Given the description of an element on the screen output the (x, y) to click on. 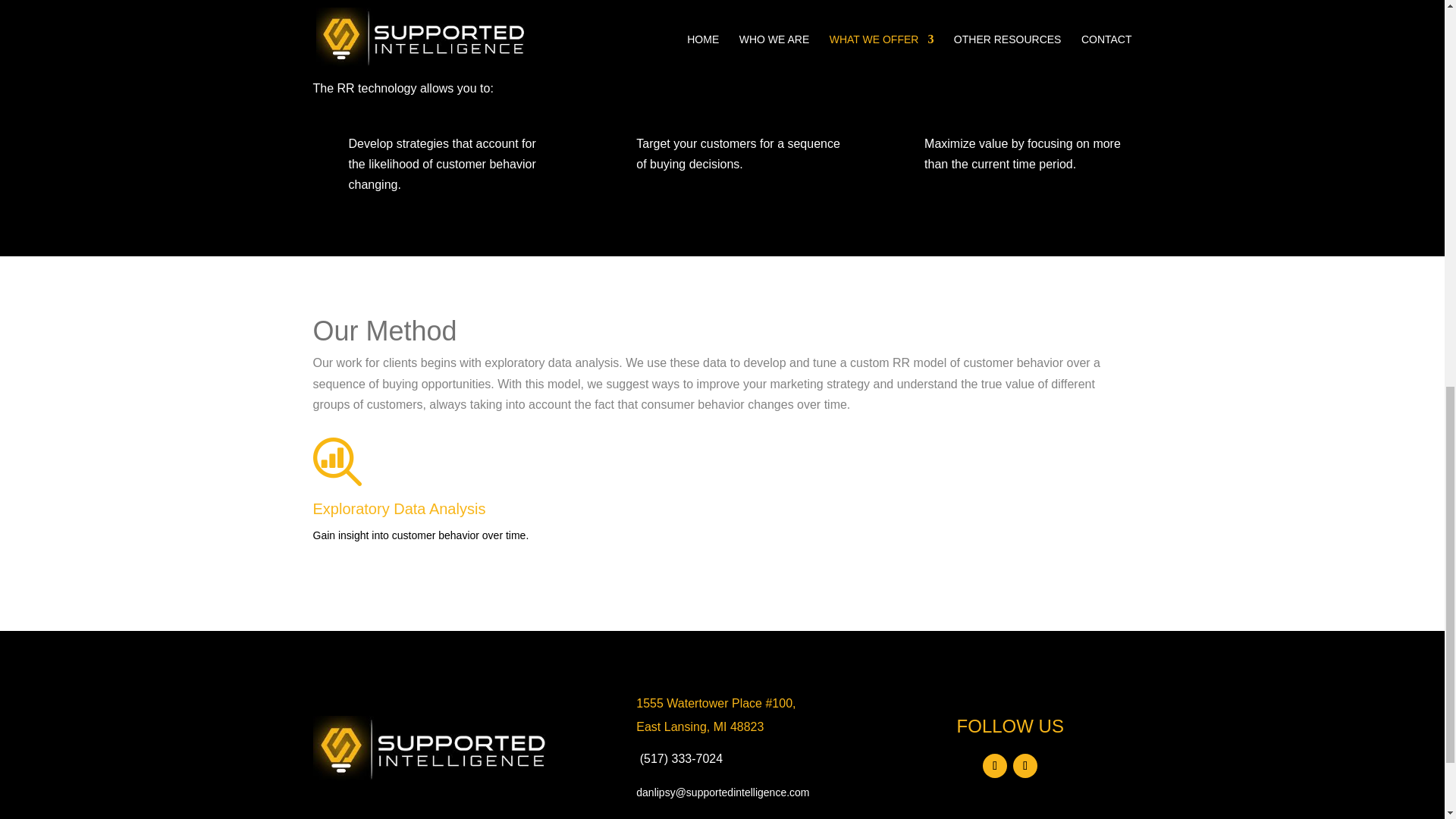
Follow on Facebook (994, 765)
Follow on X (1024, 765)
Exploratory Data Analysis (398, 508)
